Given the description of an element on the screen output the (x, y) to click on. 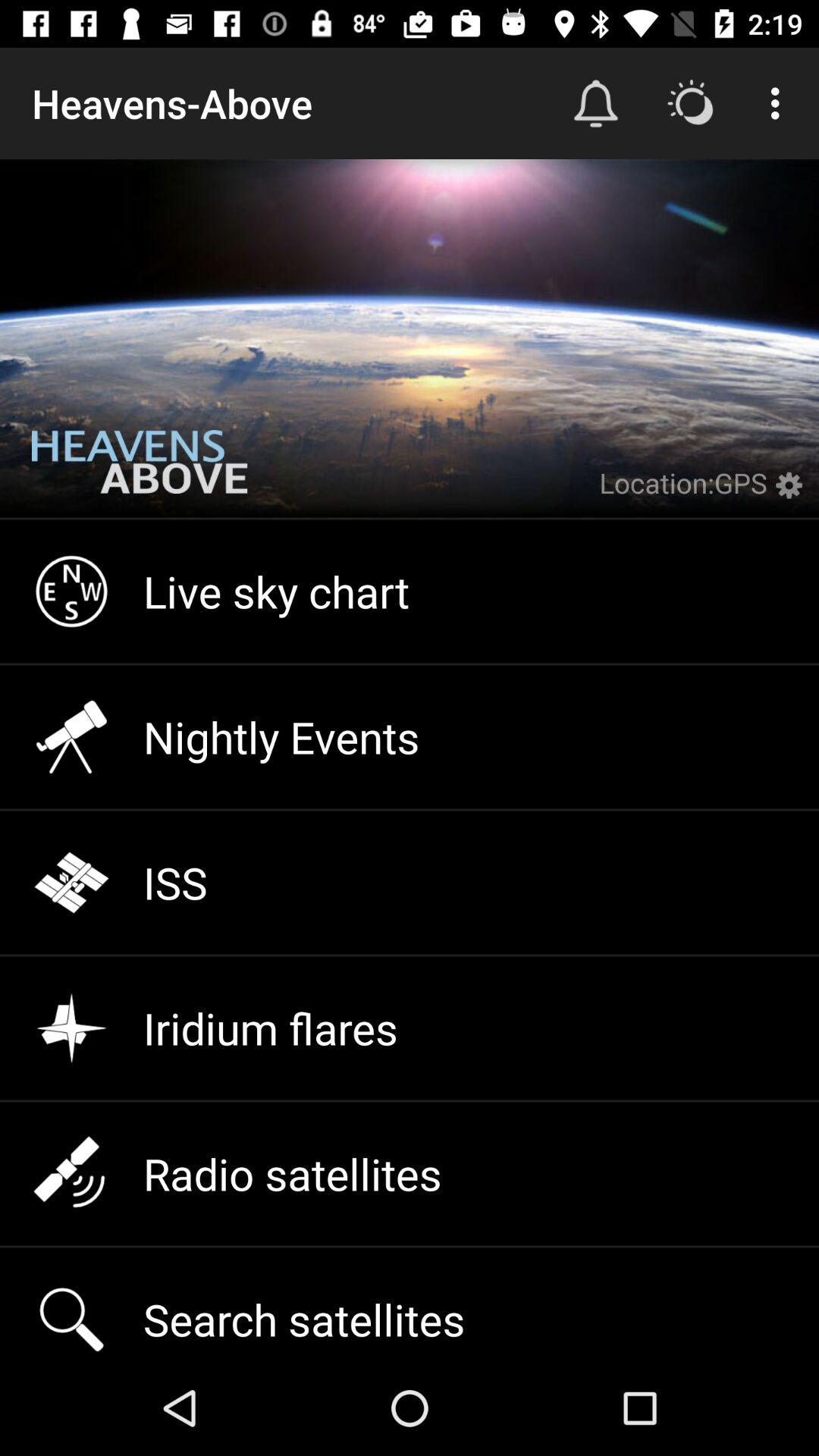
choose the icon above live sky chart item (139, 473)
